Given the description of an element on the screen output the (x, y) to click on. 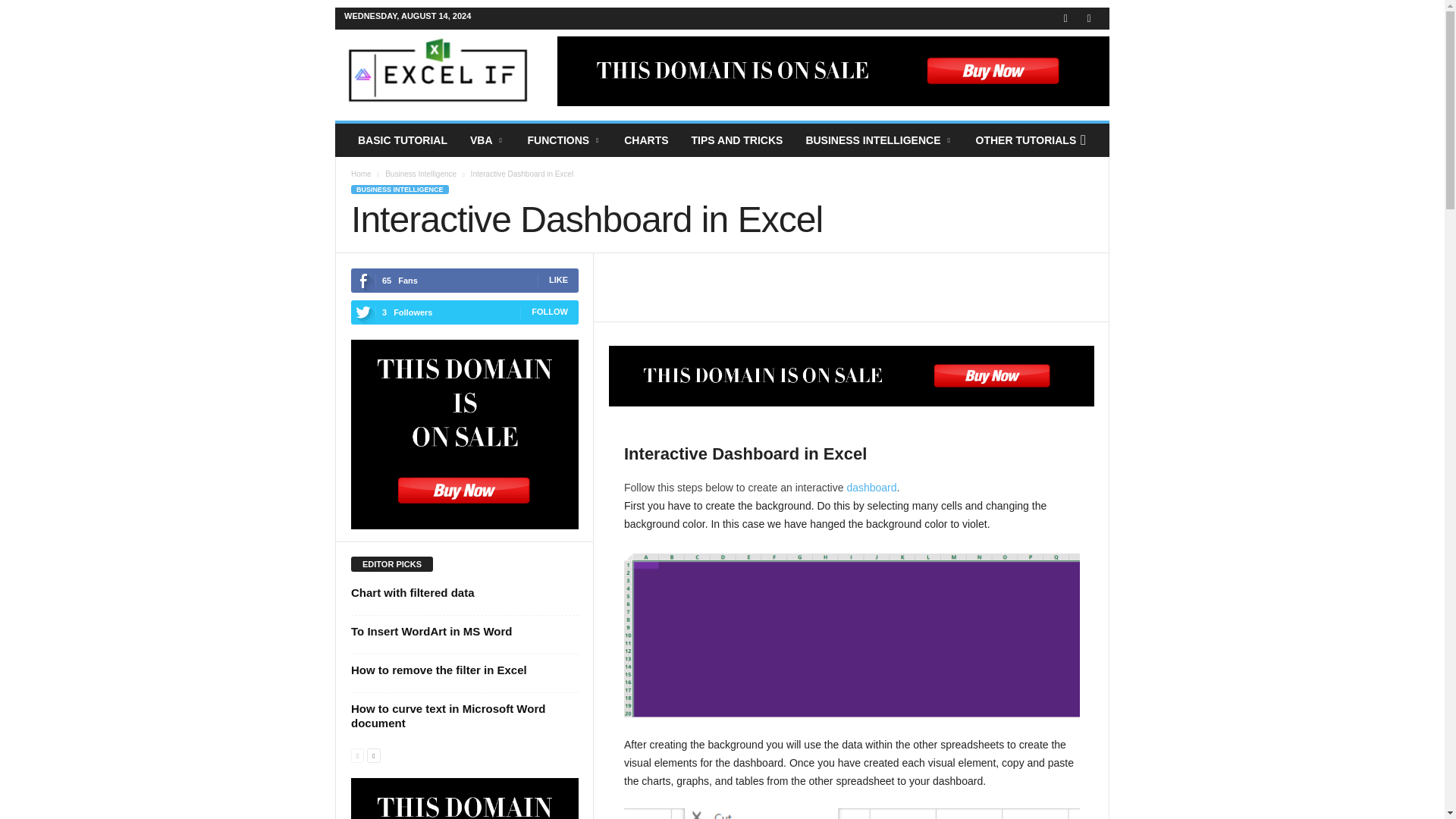
BASIC TUTORIAL (402, 140)
Business Intelligence (421, 173)
violet background (852, 634)
CHARTS (645, 140)
TIPS AND TRICKS (736, 140)
BUSINESS INTELLIGENCE (878, 140)
copy to dashboard (852, 813)
dashboard (870, 487)
View all posts in Business Intelligence (421, 173)
FUNCTIONS (564, 140)
